Given the description of an element on the screen output the (x, y) to click on. 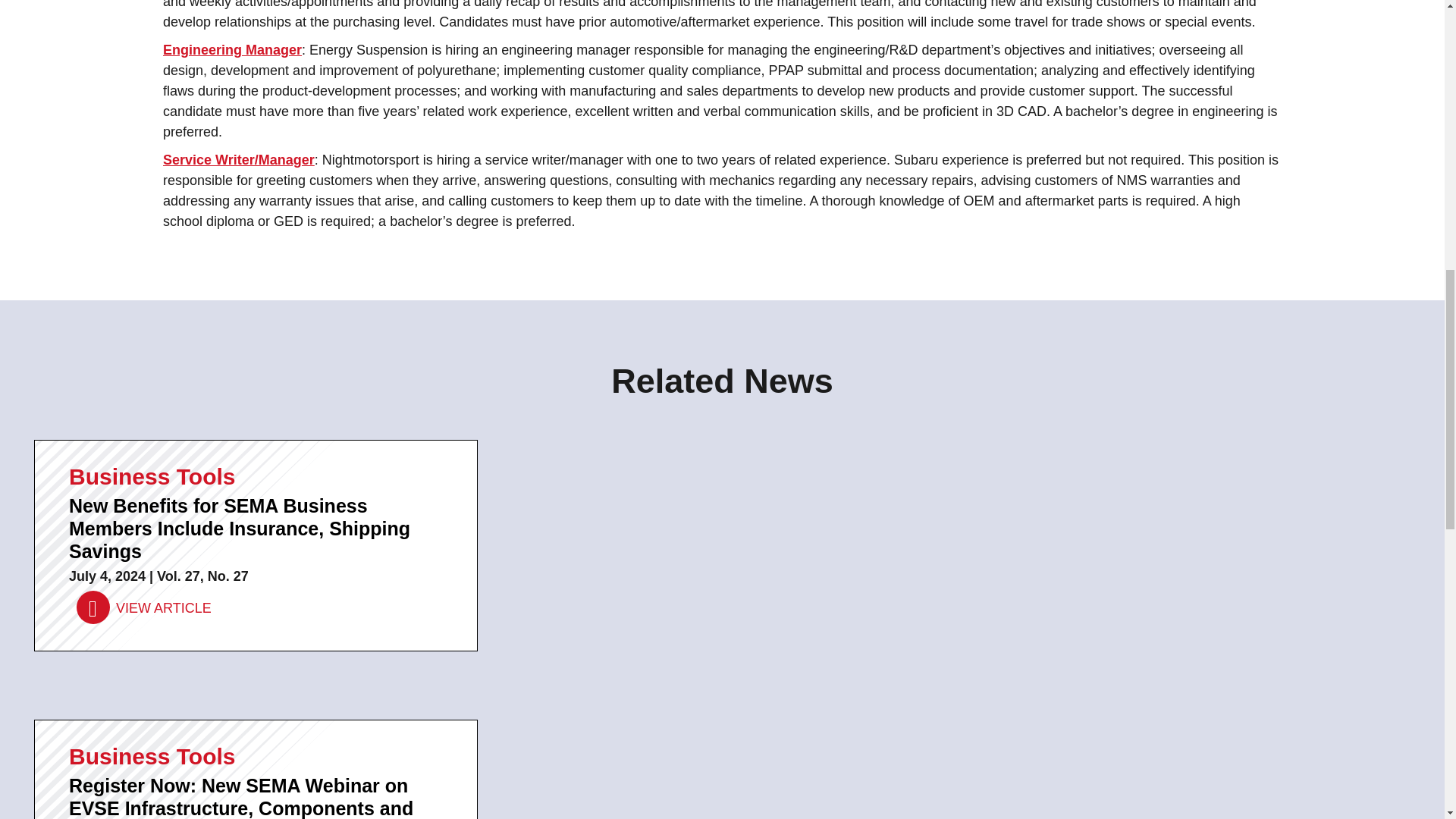
VIEW ARTICLE (143, 607)
Engineering Manager (232, 49)
